Given the description of an element on the screen output the (x, y) to click on. 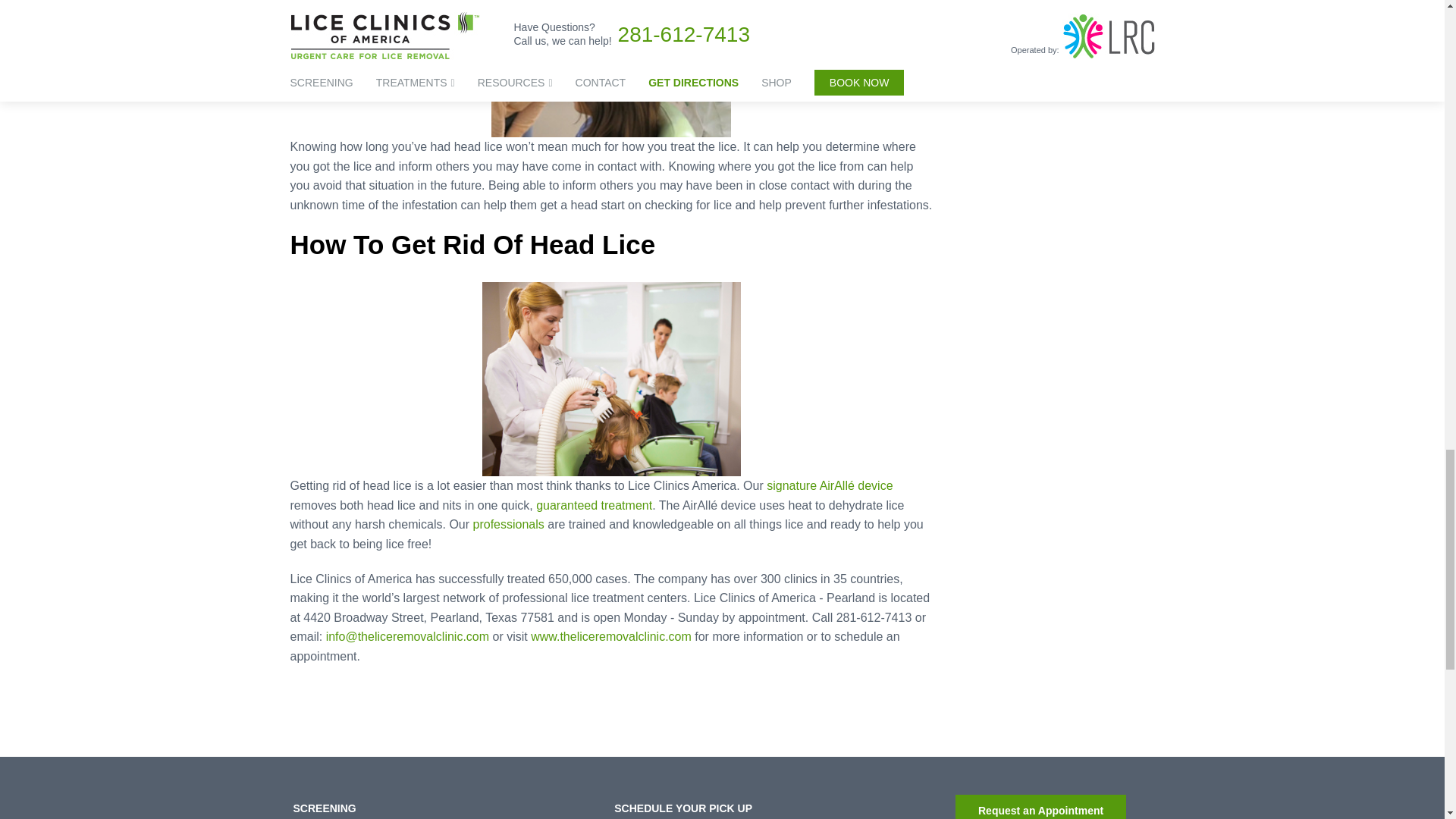
guaranteed treatment (593, 504)
SCREENING (323, 808)
www.theliceremovalclinic.com (611, 635)
professionals (508, 523)
